Given the description of an element on the screen output the (x, y) to click on. 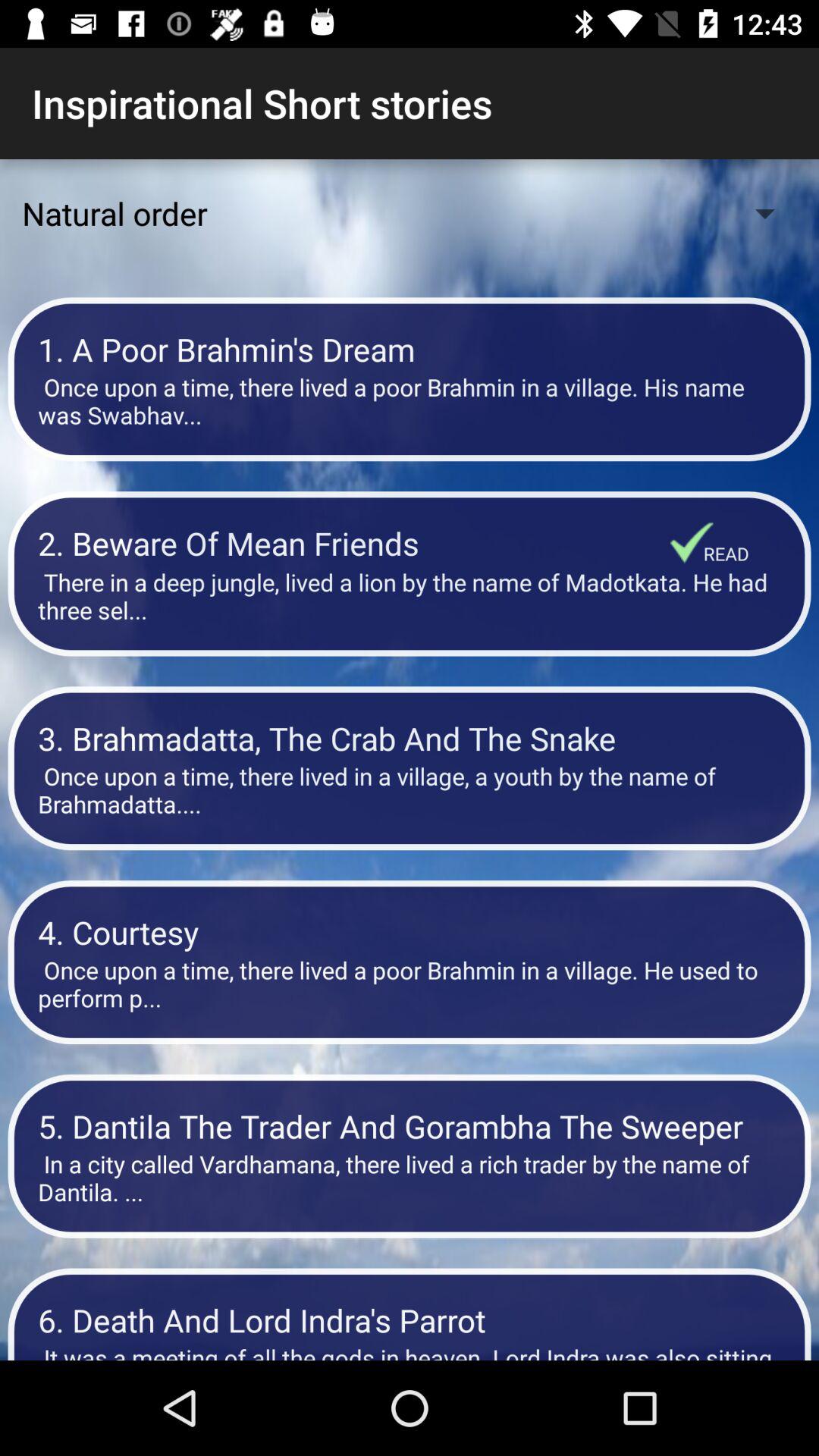
turn on item below once upon a icon (409, 931)
